Given the description of an element on the screen output the (x, y) to click on. 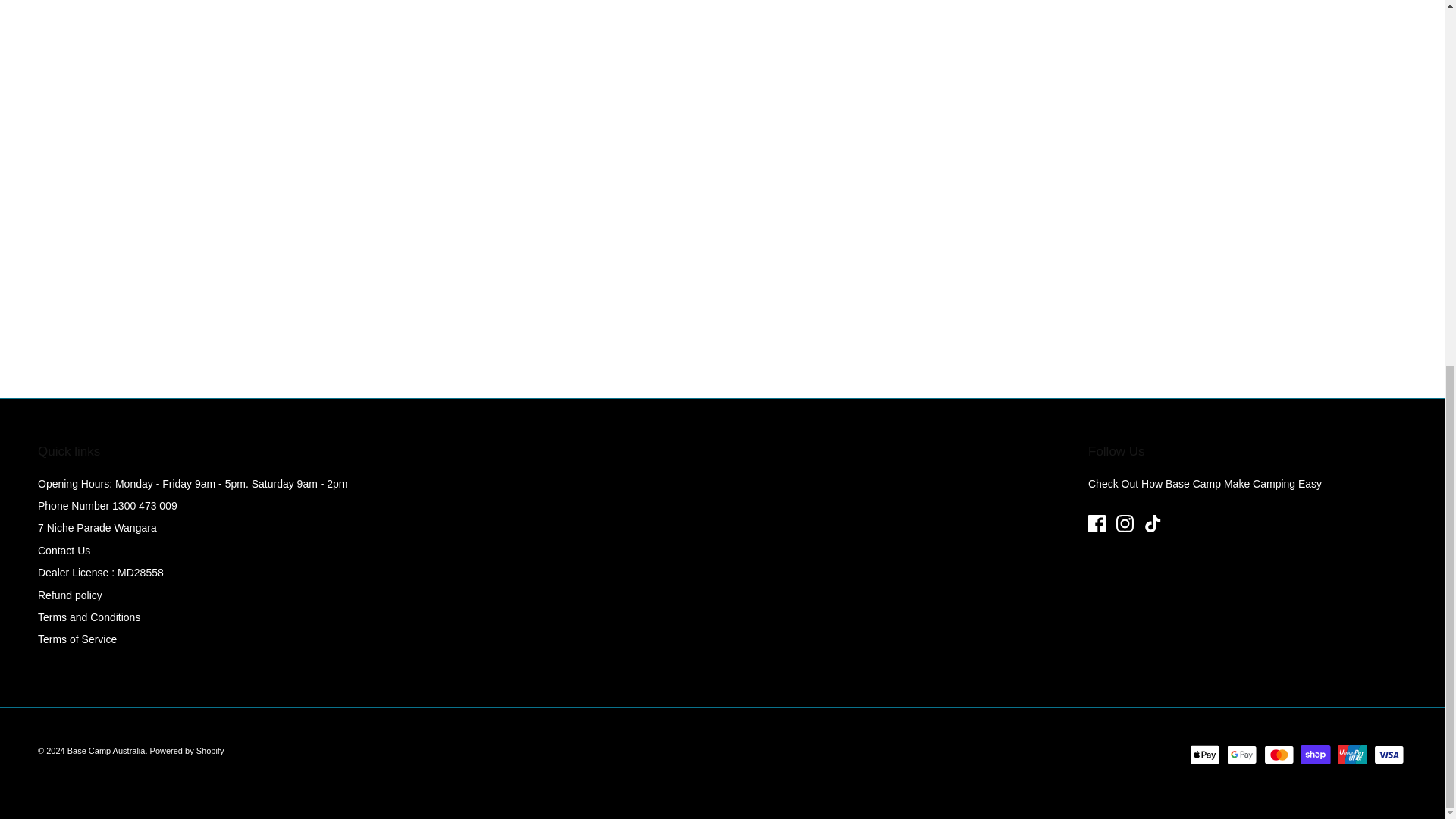
Shop Pay (1315, 754)
Google Pay (1241, 754)
Mastercard (1277, 754)
Facebook (1096, 523)
Apple Pay (1204, 754)
Instagram (1125, 523)
Visa (1388, 754)
Union Pay (1352, 754)
